Given the description of an element on the screen output the (x, y) to click on. 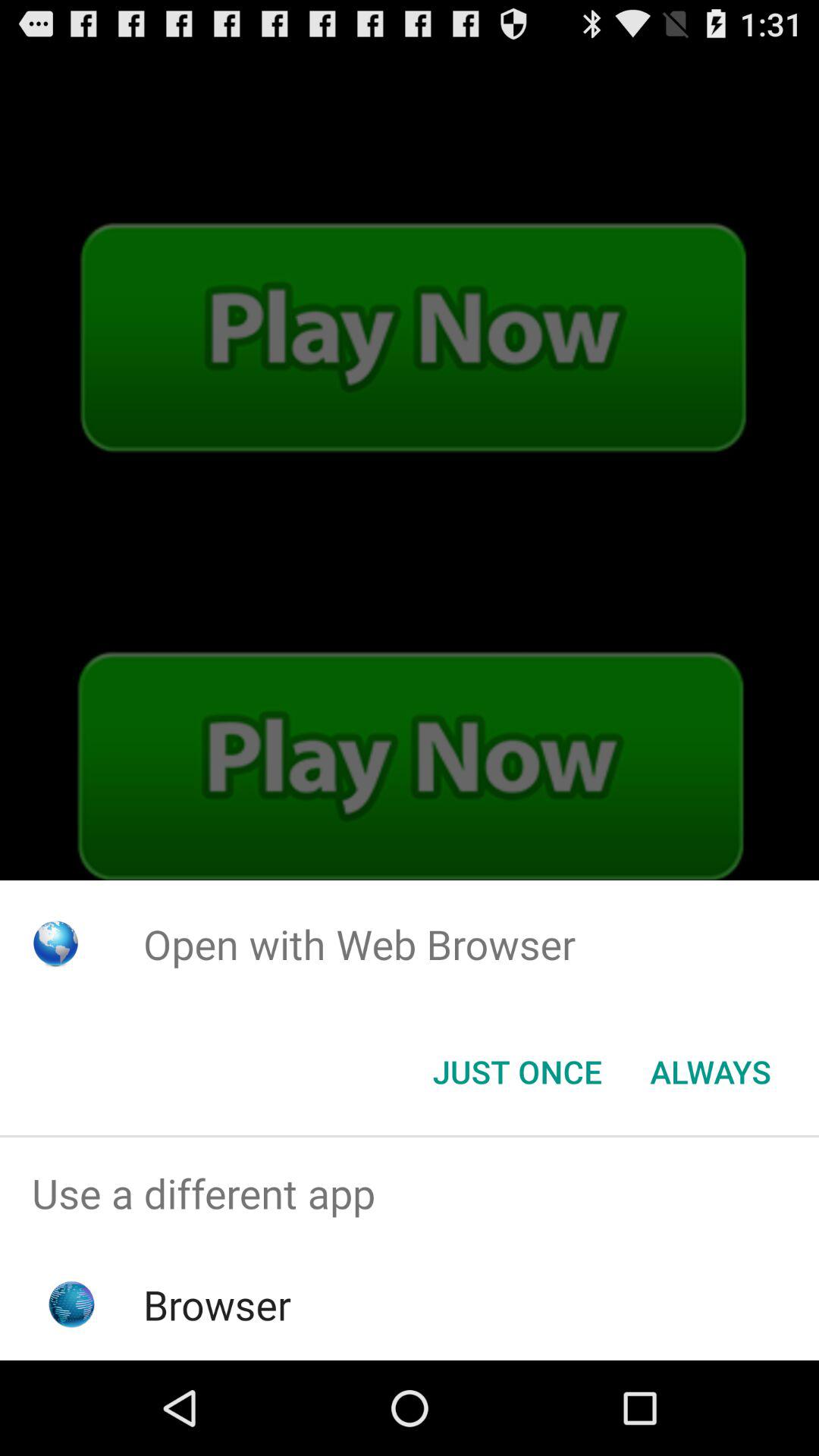
flip to the always button (710, 1071)
